Given the description of an element on the screen output the (x, y) to click on. 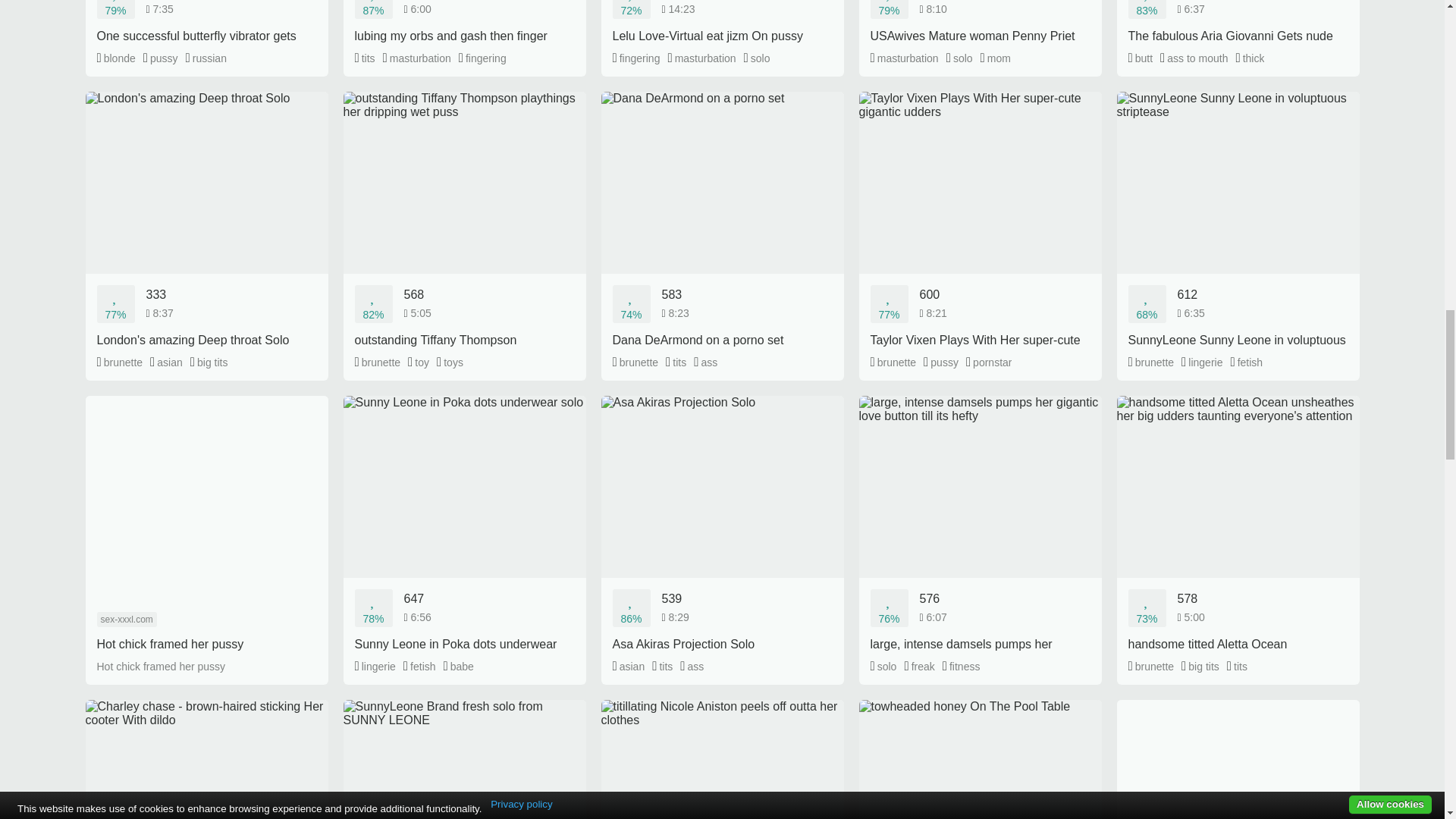
fingering (636, 57)
mom (994, 57)
The fabulous Aria Giovanni Gets nude for (1237, 22)
tits (365, 57)
russian (206, 57)
USAwives Mature woman Penny Priet Solo (979, 22)
solo (757, 57)
lubing my orbs and gash then finger (463, 22)
pussy (159, 57)
masturbation (416, 57)
